Given the description of an element on the screen output the (x, y) to click on. 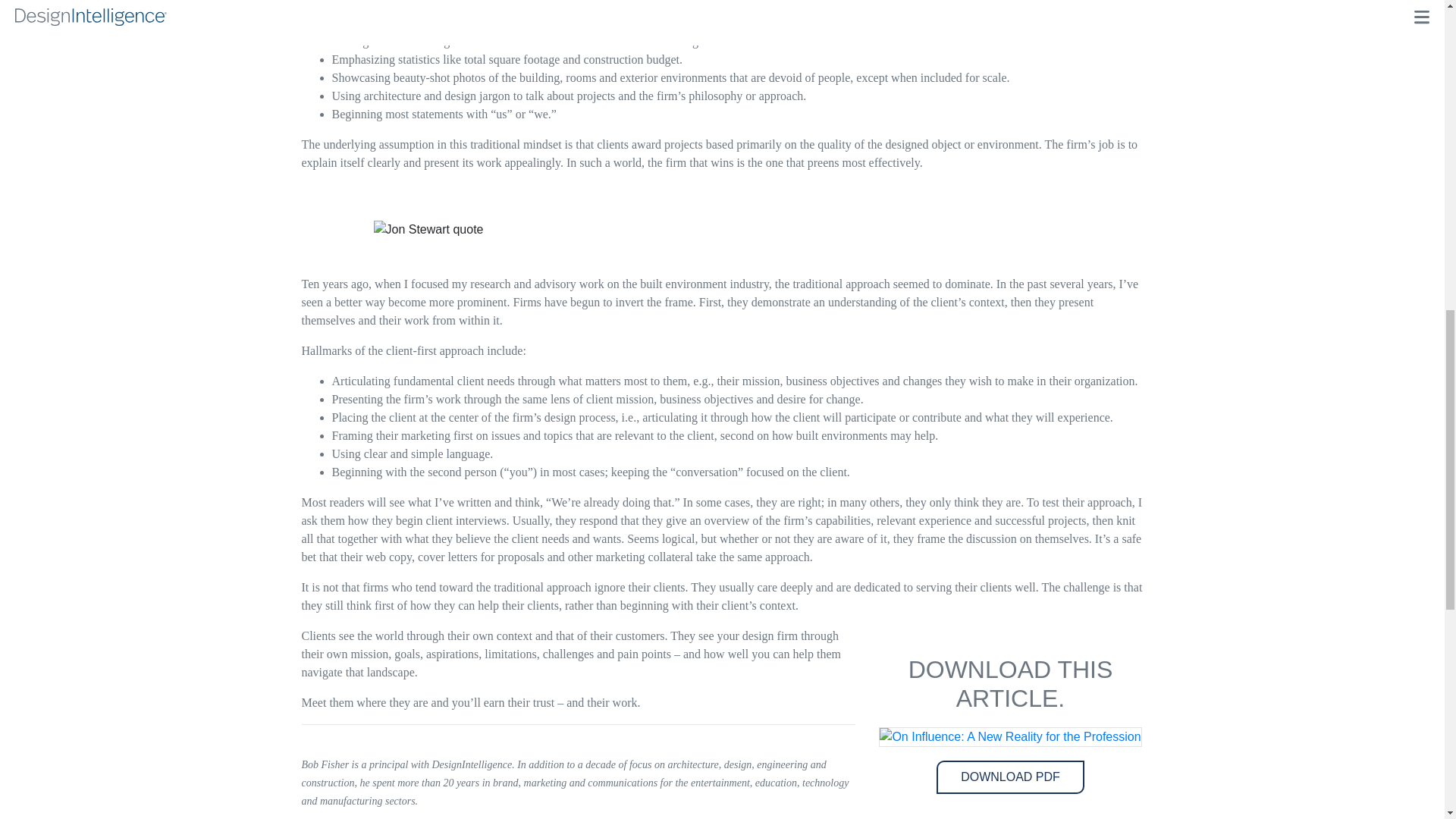
DOWNLOAD PDF (1010, 776)
DOWNLOAD PDF (1010, 776)
